Given the description of an element on the screen output the (x, y) to click on. 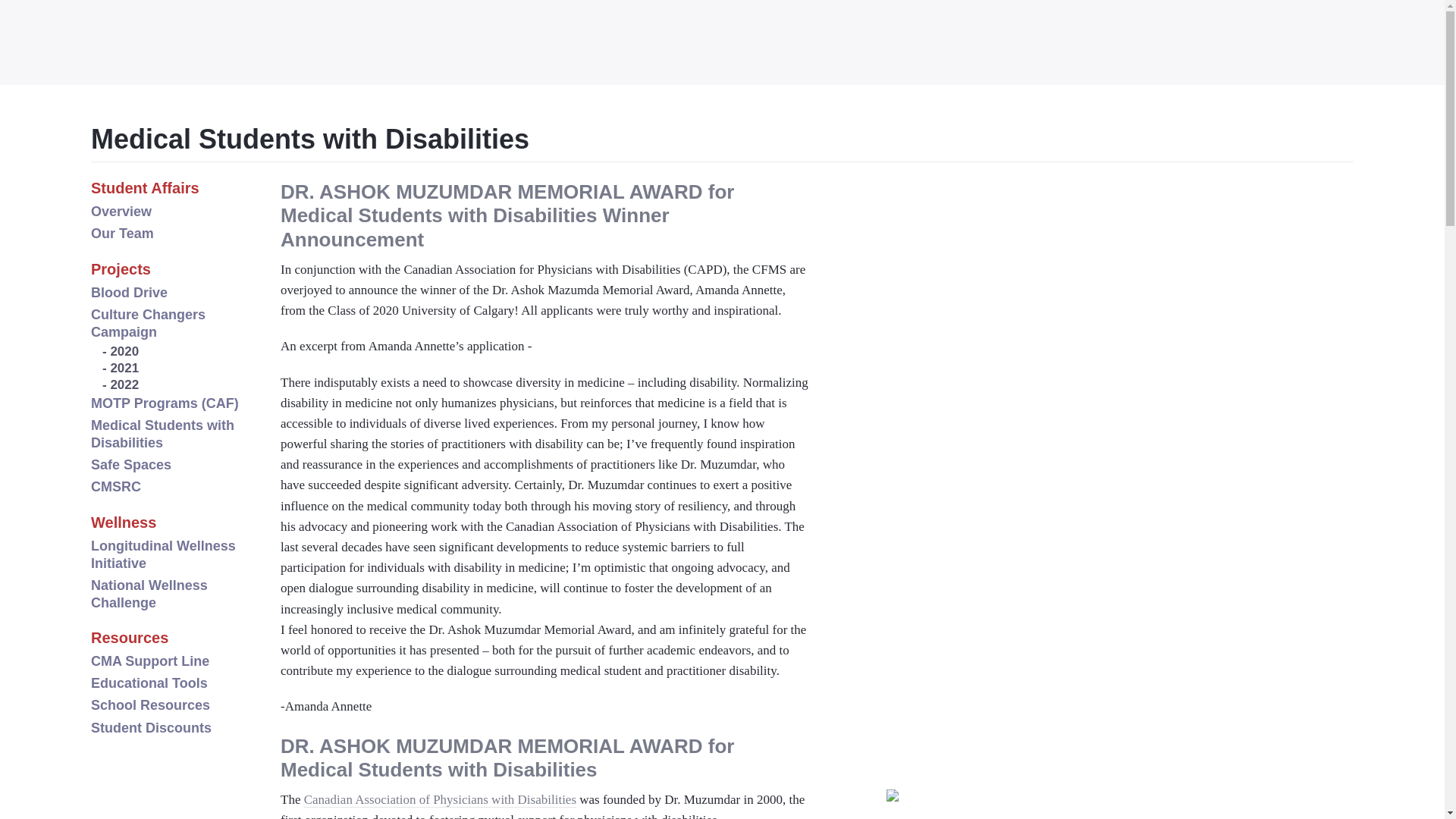
Our Team (122, 233)
Blood Drive (128, 292)
skip to main content (98, 33)
Overview (120, 211)
